Given the description of an element on the screen output the (x, y) to click on. 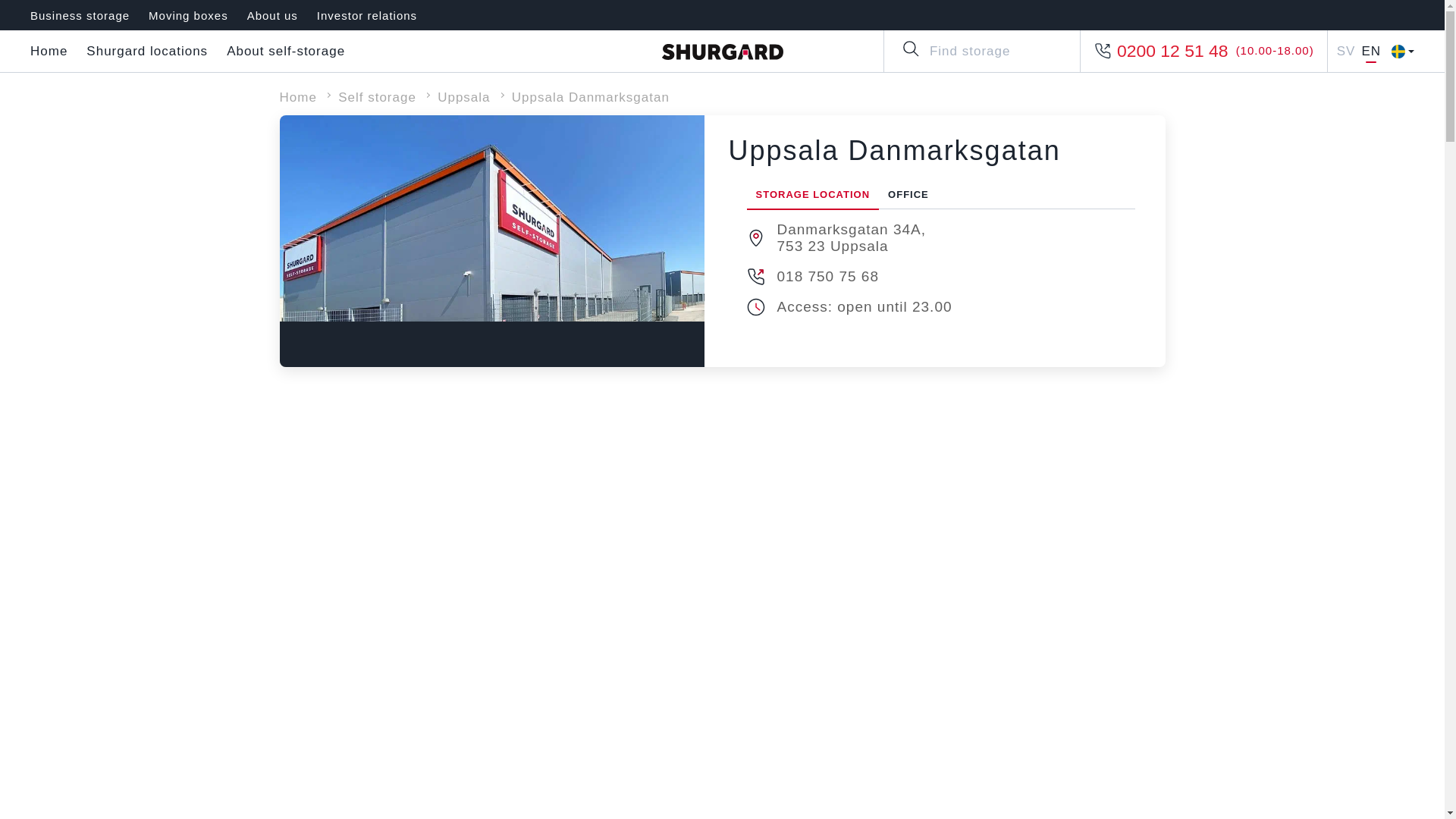
About us (272, 15)
Shurgard locations (146, 51)
Investor relations (366, 15)
Access: open until 23.00 (864, 306)
Moving boxes (188, 15)
Business storage (79, 15)
